Given the description of an element on the screen output the (x, y) to click on. 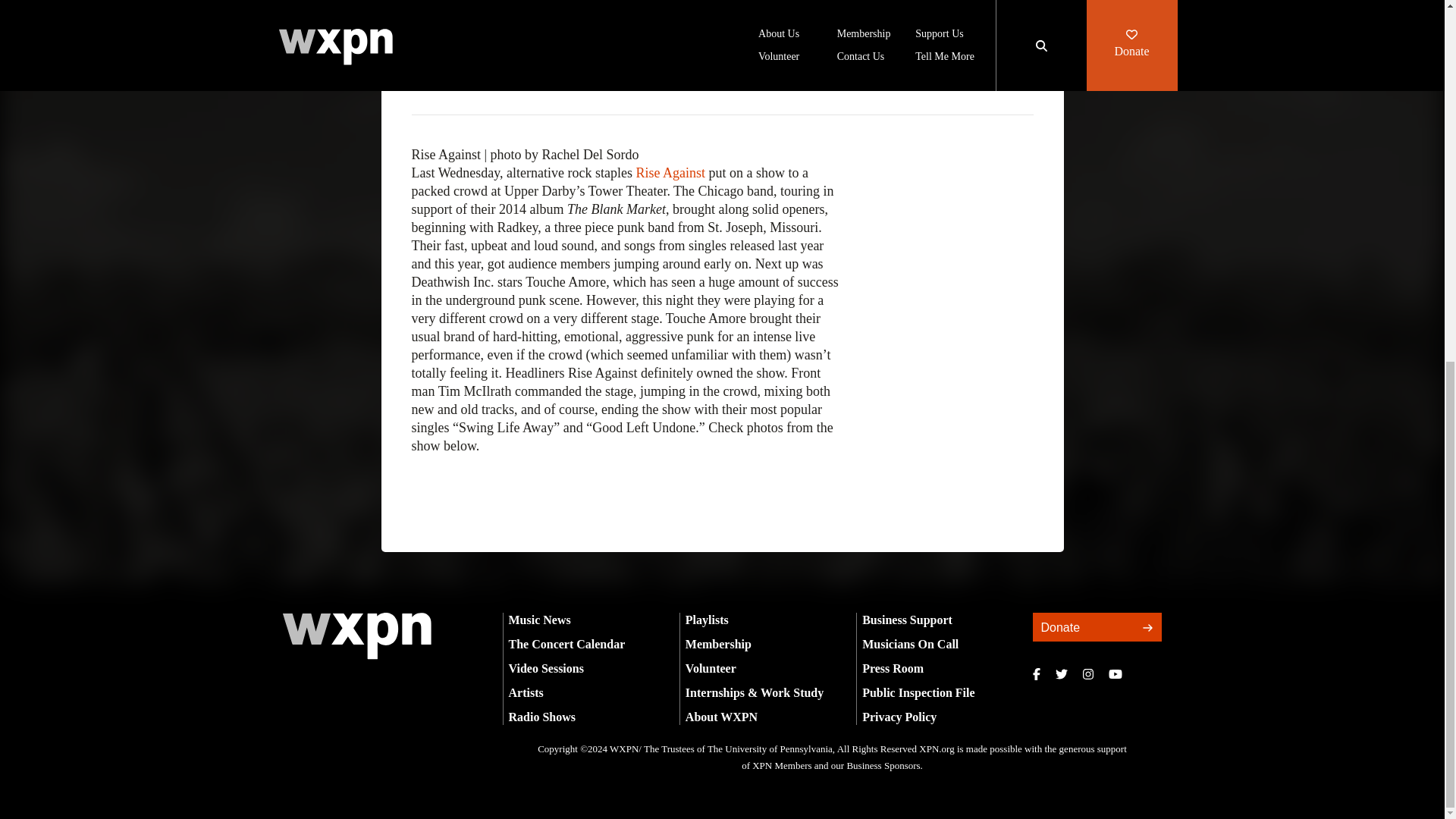
About WXPN (721, 716)
Radio Shows (541, 716)
Privacy Policy (898, 716)
The Concert Calendar (566, 644)
Business Support (906, 619)
Public Inspection File (917, 692)
Volunteer (710, 667)
Rachel Del Sordo (468, 80)
Donate (1096, 626)
Press Room (892, 667)
Membership (718, 644)
Video Sessions (545, 667)
Artists (525, 692)
Rise Against (669, 172)
Playlists (707, 619)
